Given the description of an element on the screen output the (x, y) to click on. 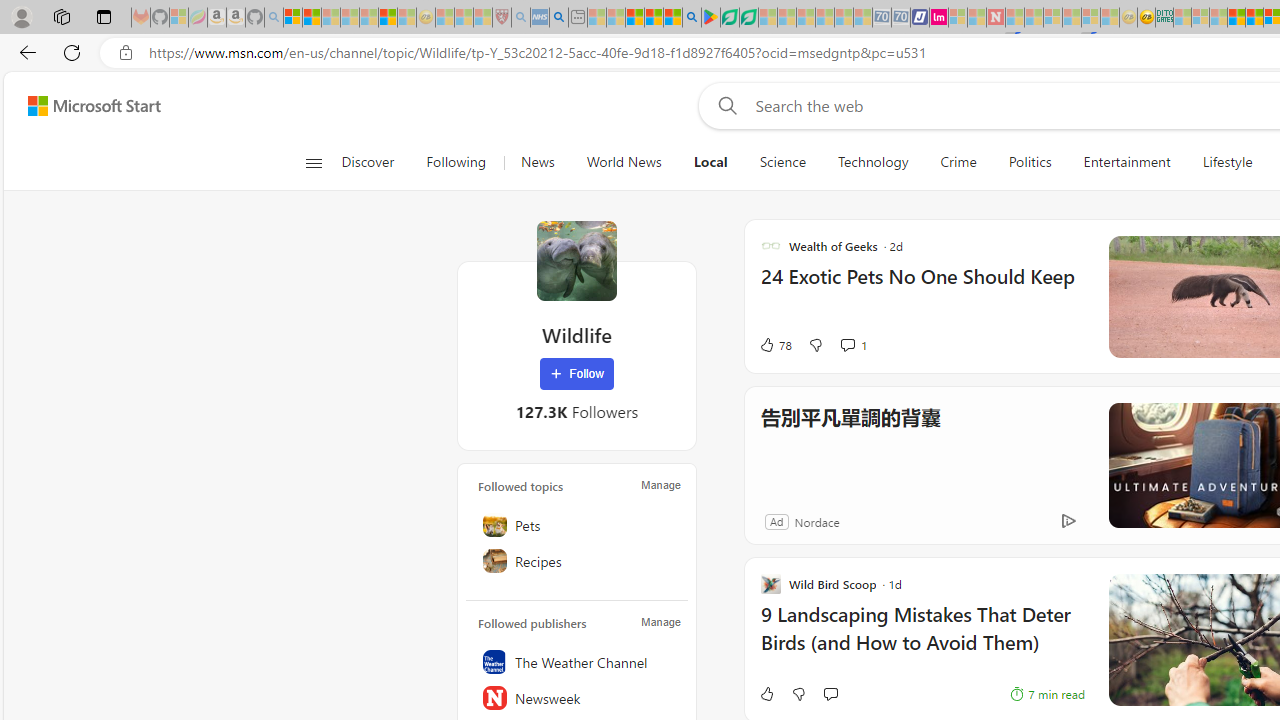
Microsoft Word - consumer-privacy address update 2.2021 (748, 17)
Newsweek (577, 697)
